Given the description of an element on the screen output the (x, y) to click on. 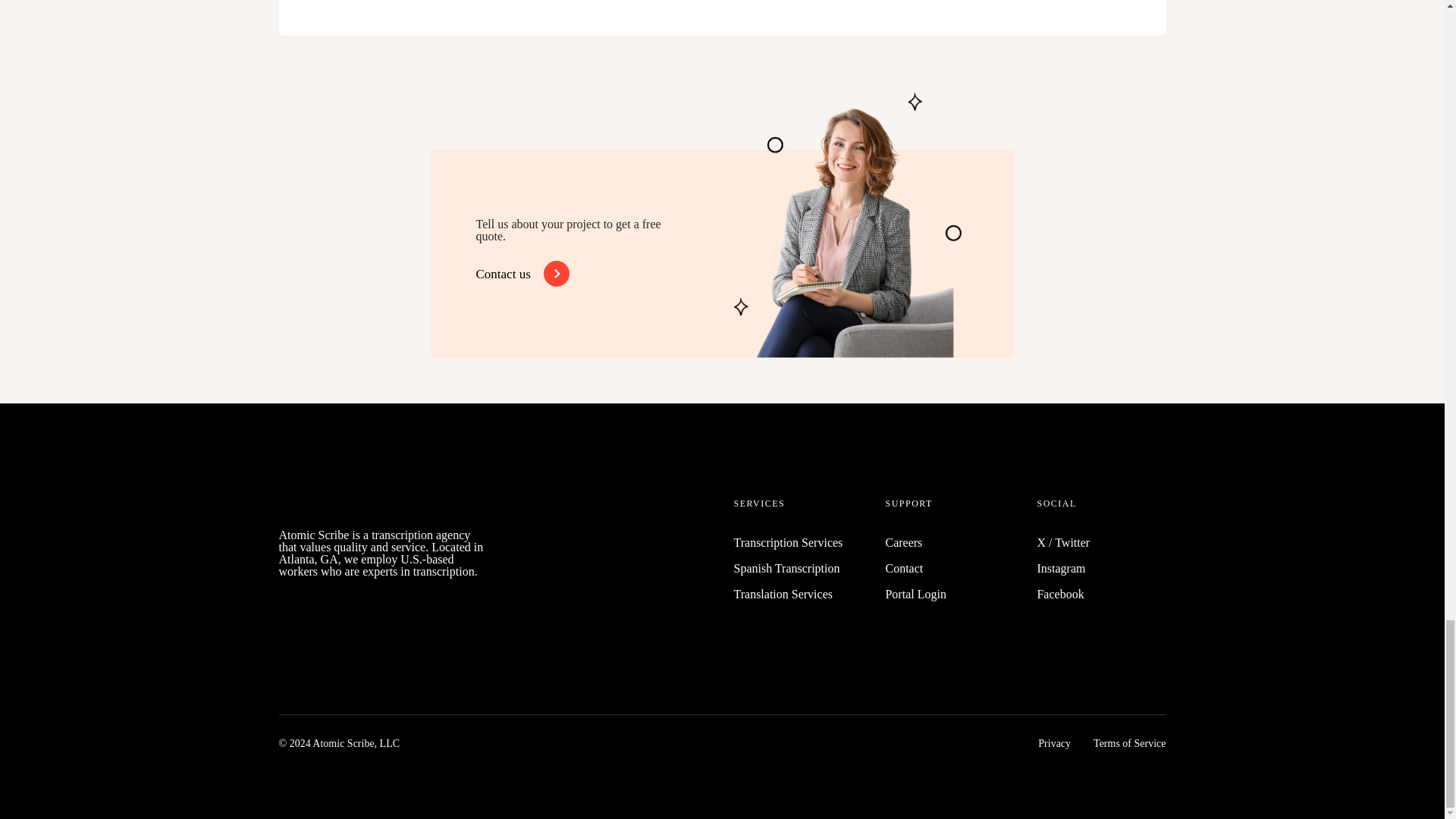
Careers (903, 542)
Contact (904, 568)
Translation Services (782, 594)
Spanish Transcription (786, 568)
Instagram (1060, 568)
Portal Login (914, 594)
Transcription Services (788, 542)
Contact us (519, 274)
Facebook (1059, 594)
